Given the description of an element on the screen output the (x, y) to click on. 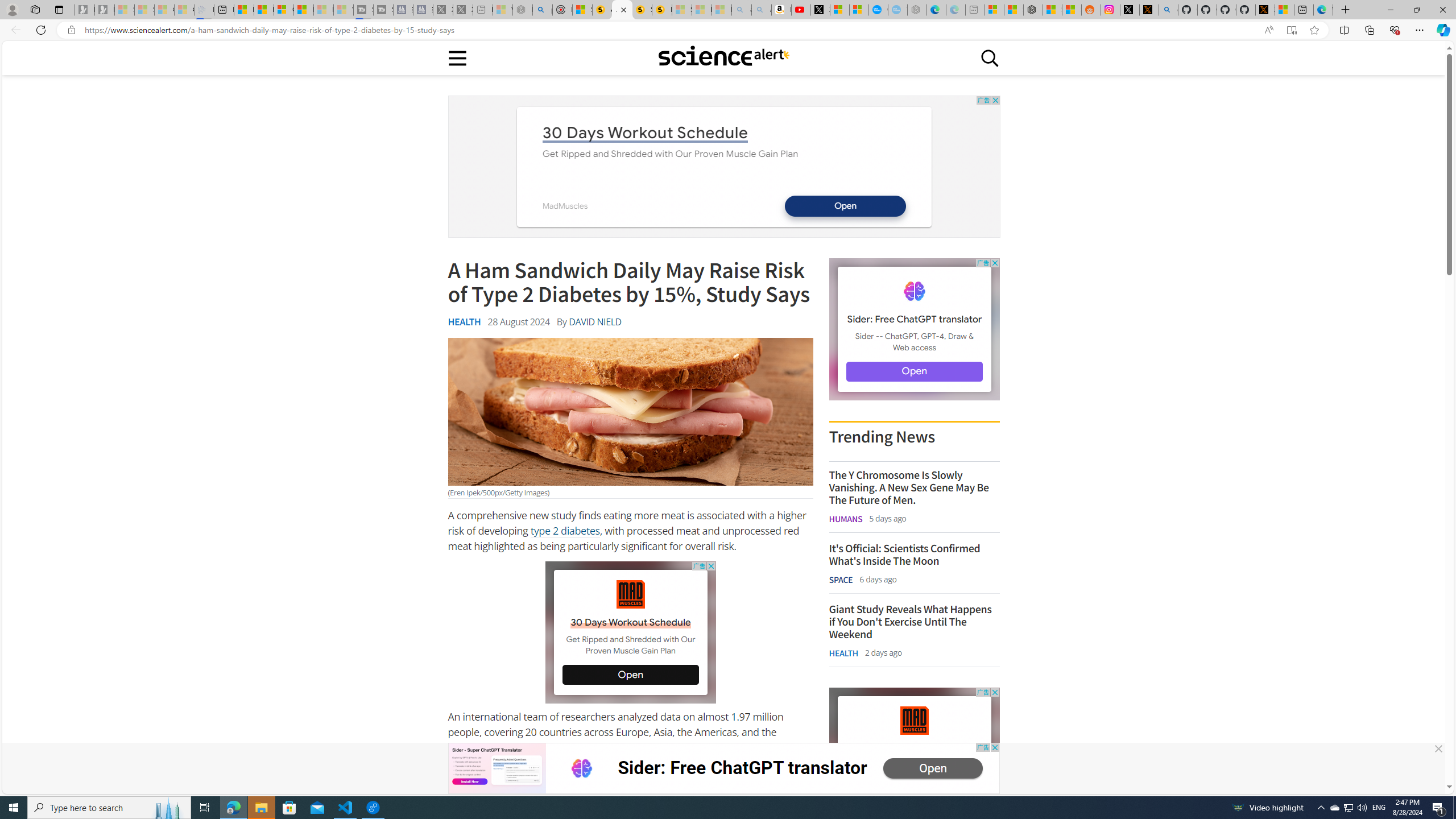
Microsoft Start - Sleeping (322, 9)
DAVID NIELD (595, 321)
Wildlife - MSN - Sleeping (501, 9)
New tab - Sleeping (975, 9)
HEALTH (842, 653)
Nordace - Duffels (1033, 9)
type 2 diabetes (564, 531)
It's Official: Scientists Confirmed What's Inside The Moon (914, 554)
HUMANS (845, 518)
Michelle Starr, Senior Journalist at ScienceAlert (662, 9)
Address and search bar (669, 29)
App bar (728, 29)
